Given the description of an element on the screen output the (x, y) to click on. 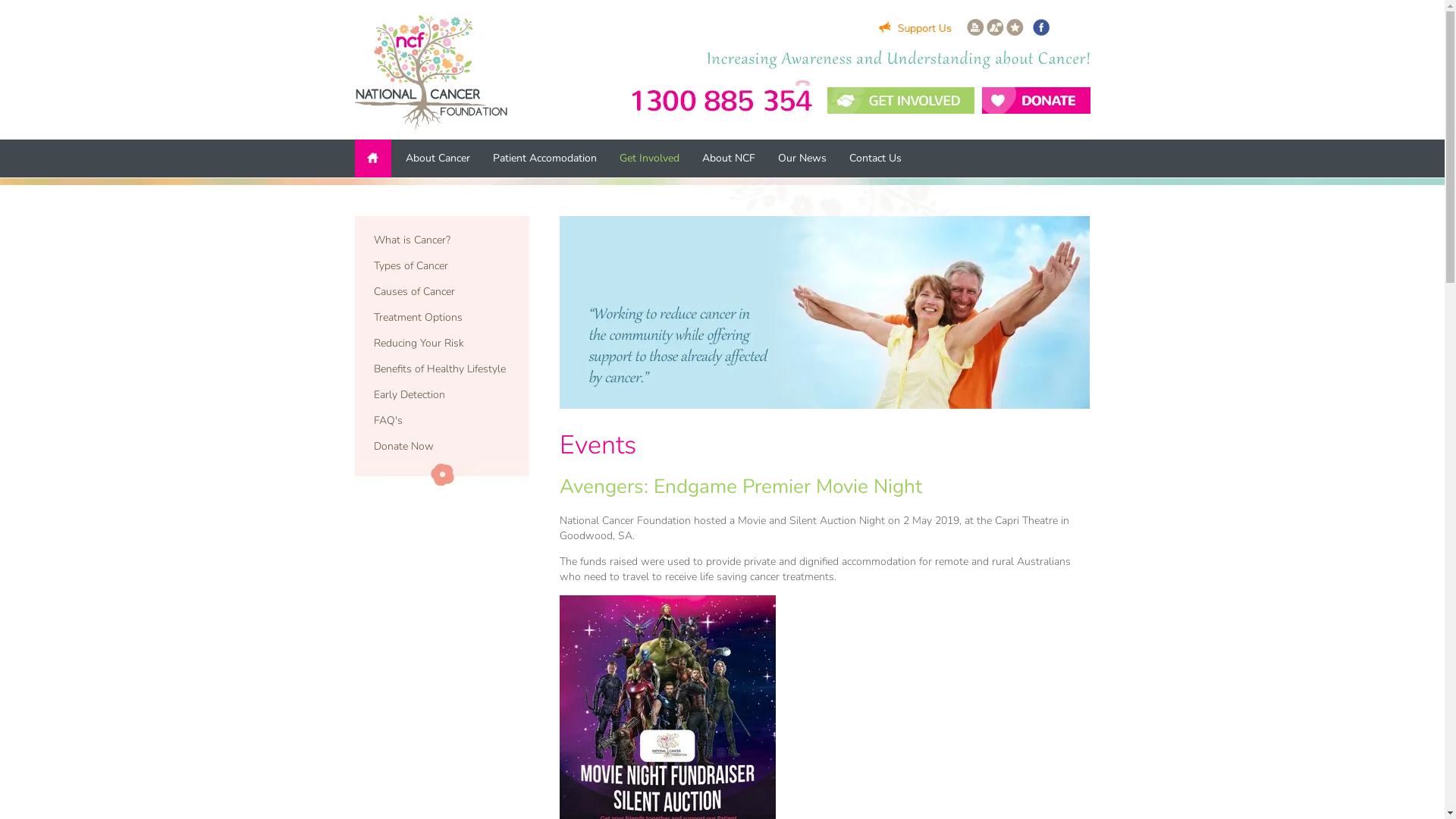
Patient Accomodation Element type: text (543, 158)
facebook Element type: text (1040, 26)
Our News Element type: text (801, 158)
Donate Now Element type: text (441, 446)
Get Involved Element type: text (649, 158)
About Cancer Element type: text (437, 158)
Early Detection Element type: text (441, 394)
Home Element type: text (374, 158)
Benefits of Healthy Lifestyle Element type: text (441, 369)
Causes of Cancer Element type: text (441, 291)
Contact Us Element type: text (874, 158)
About NCF Element type: text (727, 158)
Reducing Your Risk Element type: text (441, 343)
Types of Cancer Element type: text (441, 266)
What is Cancer? Element type: text (441, 240)
FAQ's Element type: text (441, 420)
Treatment Options Element type: text (441, 317)
